Given the description of an element on the screen output the (x, y) to click on. 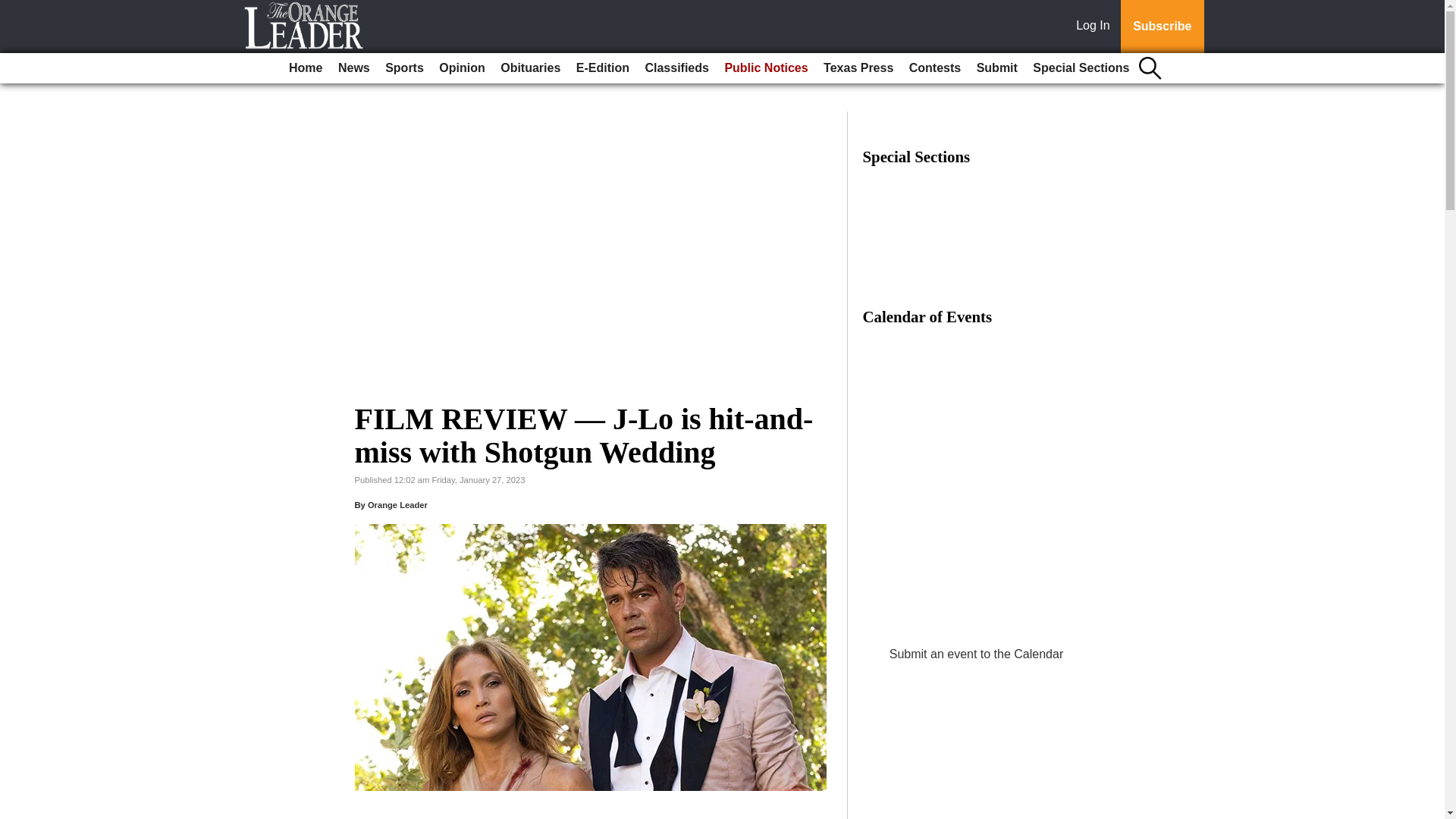
Go (13, 9)
Log In (1095, 26)
Home (305, 68)
Submit an event to the Calendar (975, 653)
Texas Press (857, 68)
Classifieds (676, 68)
Special Sections (1080, 68)
Sports (403, 68)
Obituaries (530, 68)
Opinion (461, 68)
E-Edition (602, 68)
Subscribe (1162, 26)
News (353, 68)
Contests (934, 68)
Public Notices (765, 68)
